Given the description of an element on the screen output the (x, y) to click on. 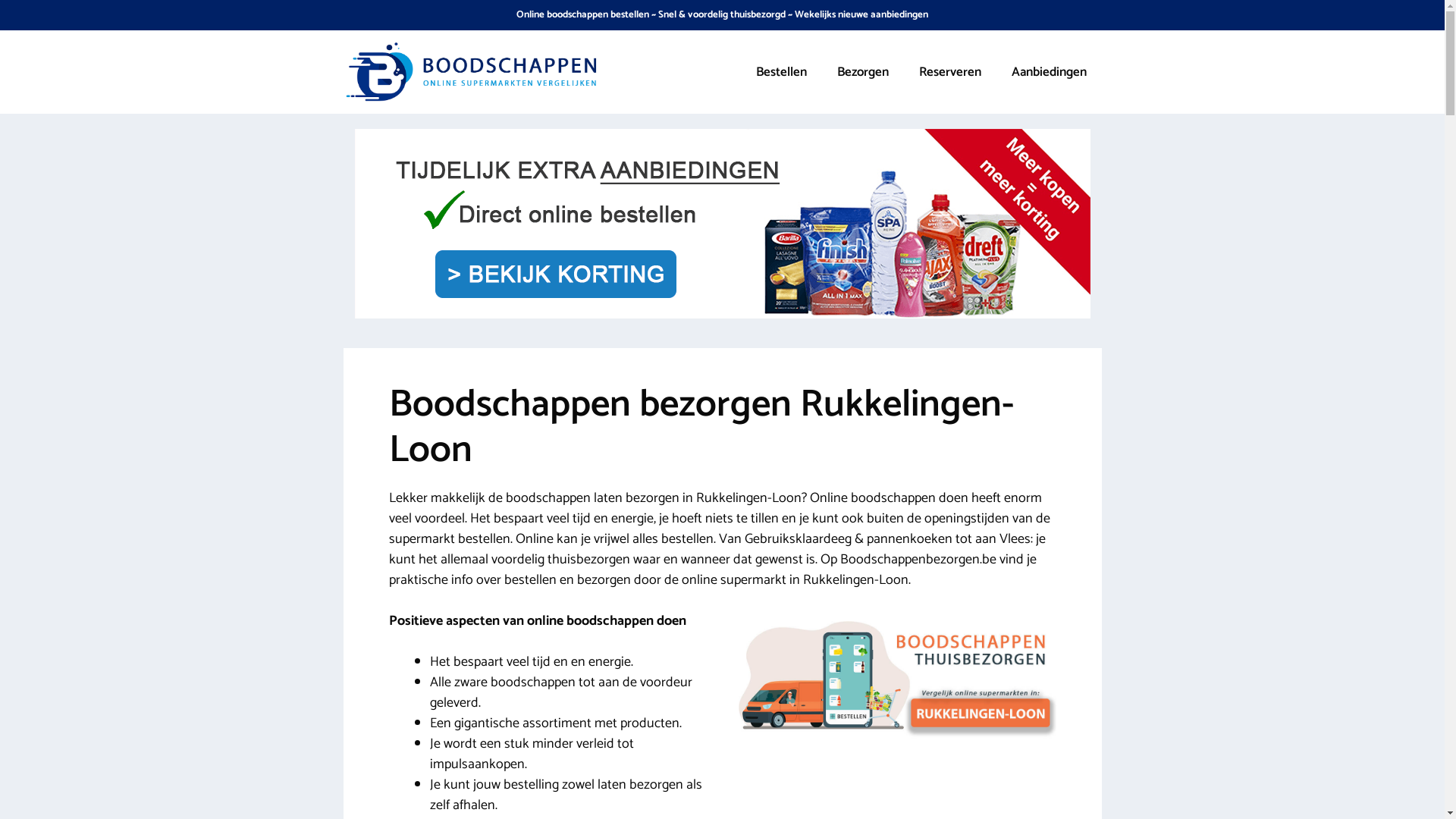
Bezorgen Element type: text (862, 72)
Boodschappen Bezorgen Element type: hover (471, 71)
Bestellen Element type: text (780, 72)
Aanbiedingen Element type: text (1048, 72)
Reserveren Element type: text (949, 72)
Aanbieding Element type: hover (722, 314)
Boodschappen Bezorgen Element type: hover (471, 70)
